Given the description of an element on the screen output the (x, y) to click on. 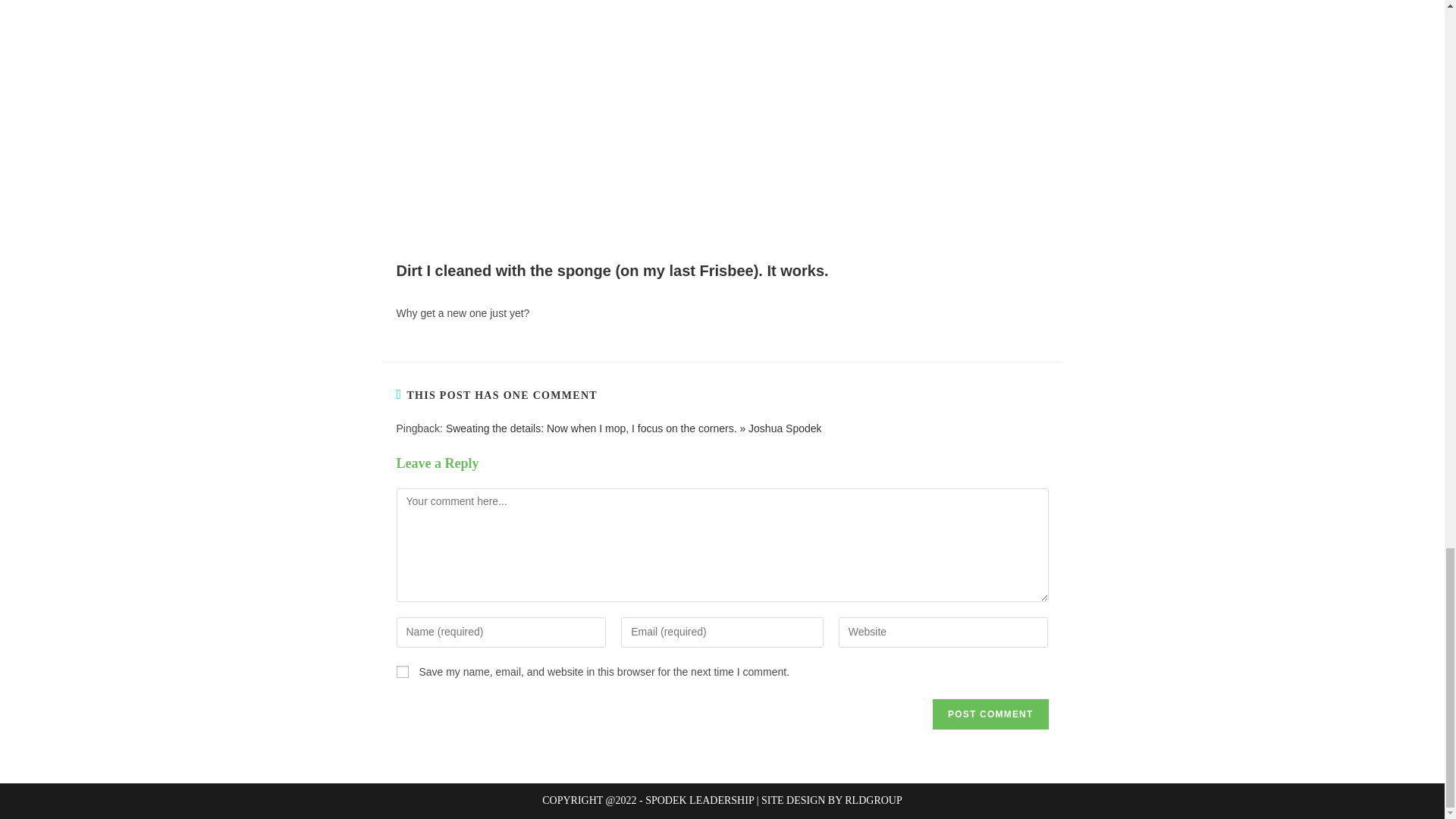
RLDGROUP (872, 799)
Post Comment (990, 714)
Post Comment (990, 714)
yes (401, 671)
